Given the description of an element on the screen output the (x, y) to click on. 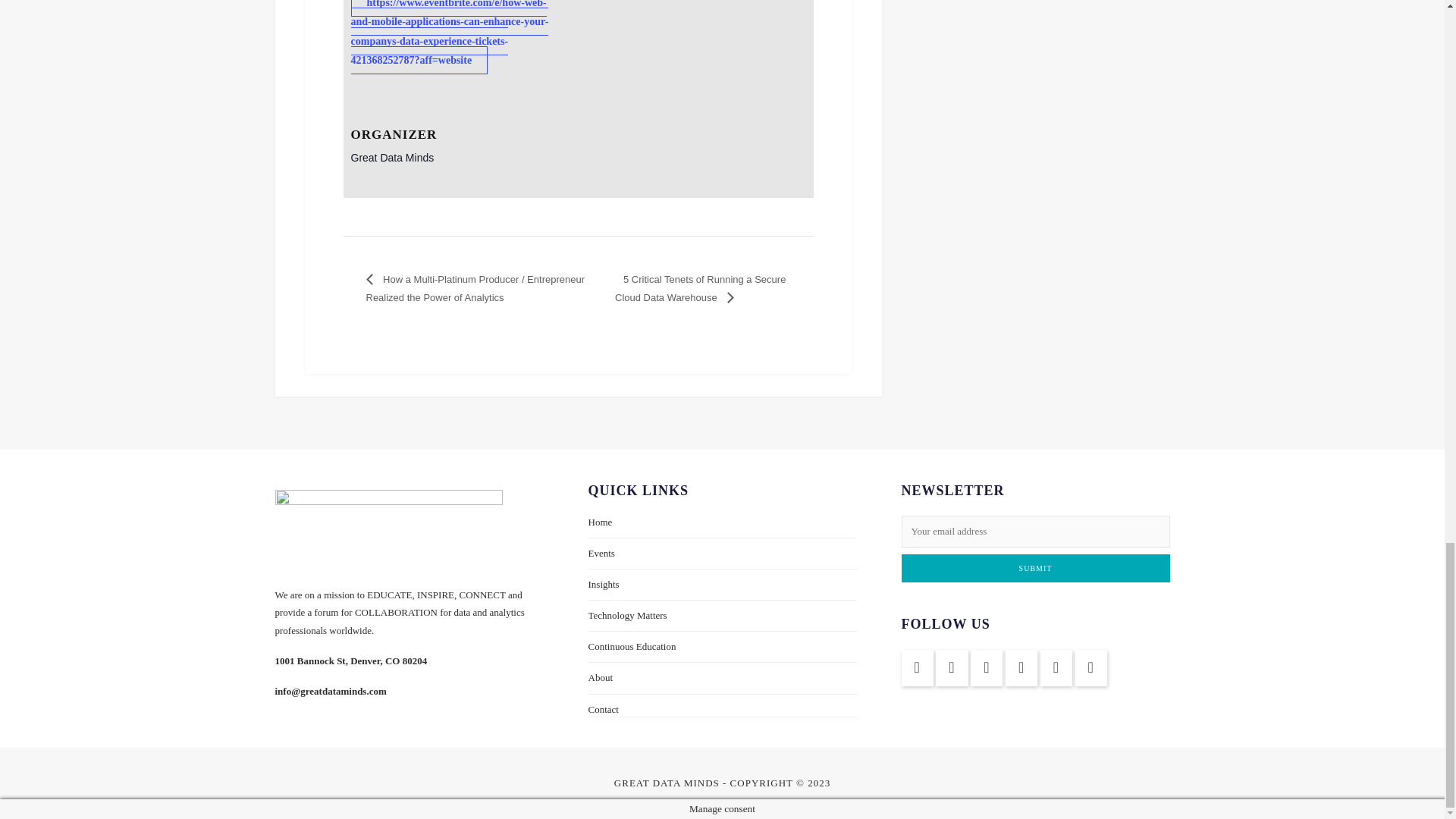
linkedin (952, 667)
Linkedin (917, 667)
Submit (1035, 568)
Youtube (987, 667)
